Given the description of an element on the screen output the (x, y) to click on. 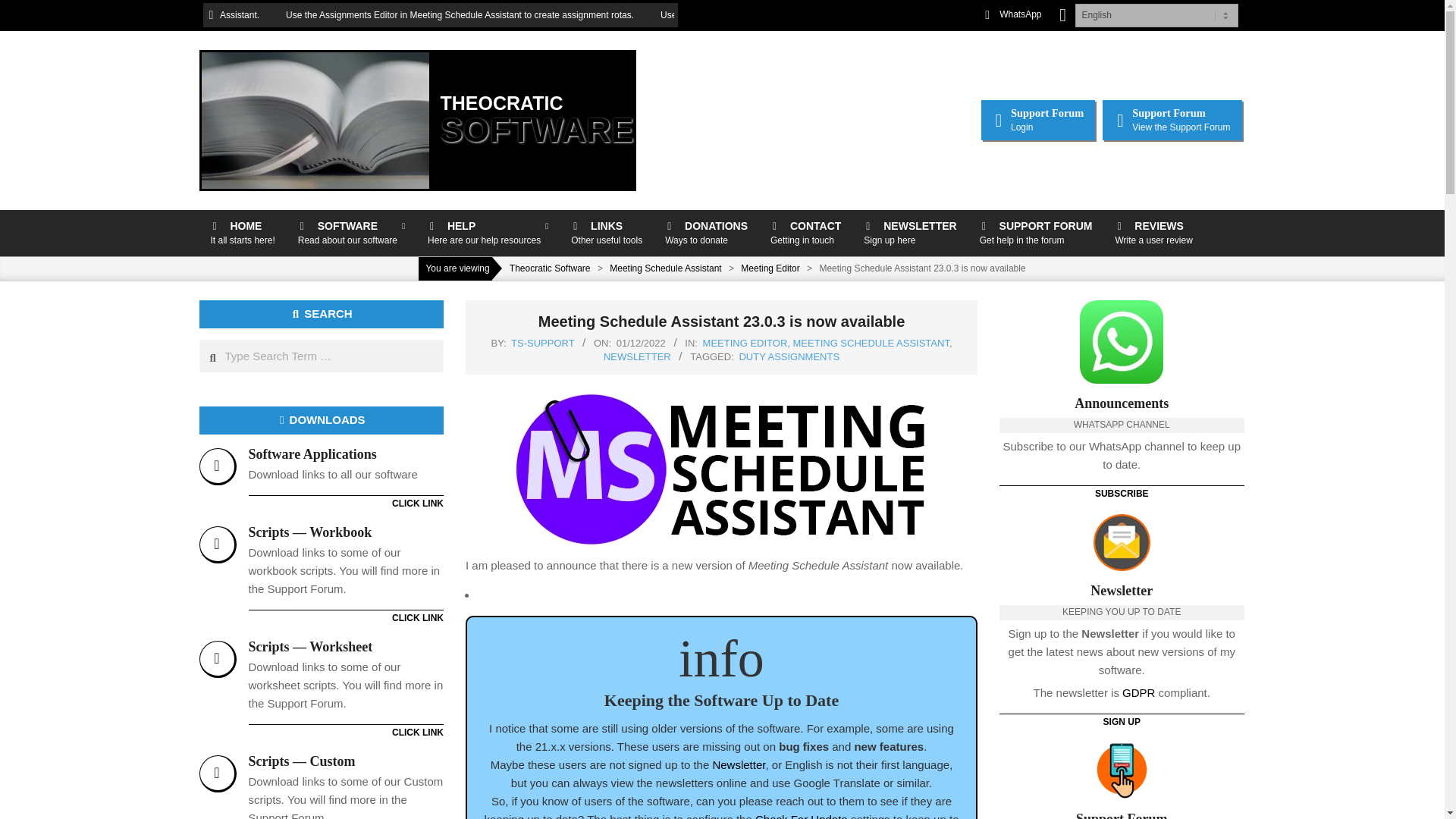
Posts by TS-Support (542, 342)
TS-SUPPORT (1037, 119)
Meeting Editor (542, 342)
Thursday, December 1, 2022, 5:18 pm (705, 232)
MEETING EDITOR (770, 267)
Go to the Meeting Schedule Assistant category archives. (1035, 232)
Go to the Meeting Editor category archives. (640, 342)
